Given the description of an element on the screen output the (x, y) to click on. 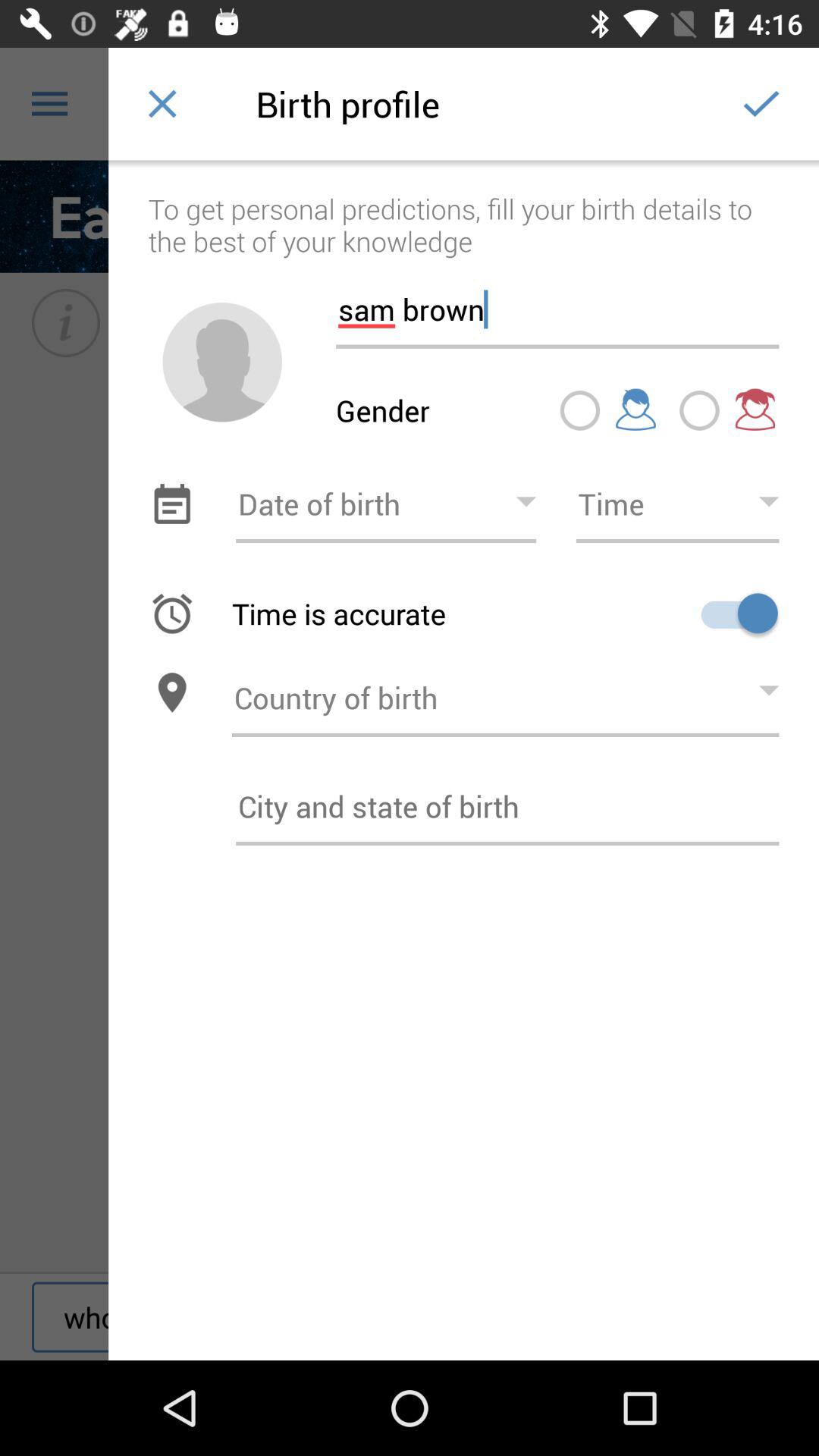
toggle 'time is accurate option (734, 613)
